Given the description of an element on the screen output the (x, y) to click on. 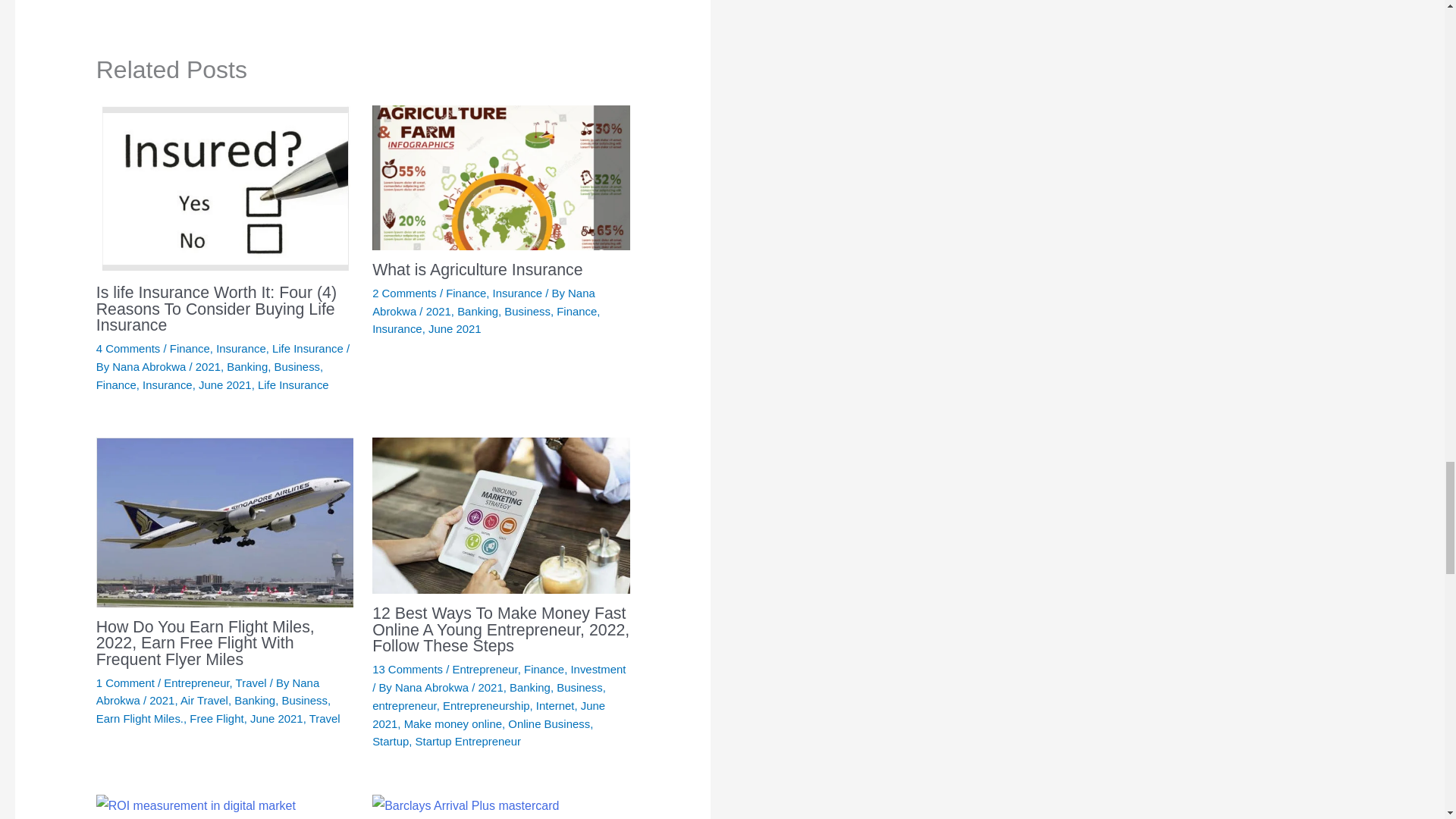
View all posts by Nana Abrokwa (150, 366)
View all posts by Nana Abrokwa (483, 301)
View all posts by Nana Abrokwa (207, 691)
View all posts by Nana Abrokwa (432, 686)
